Given the description of an element on the screen output the (x, y) to click on. 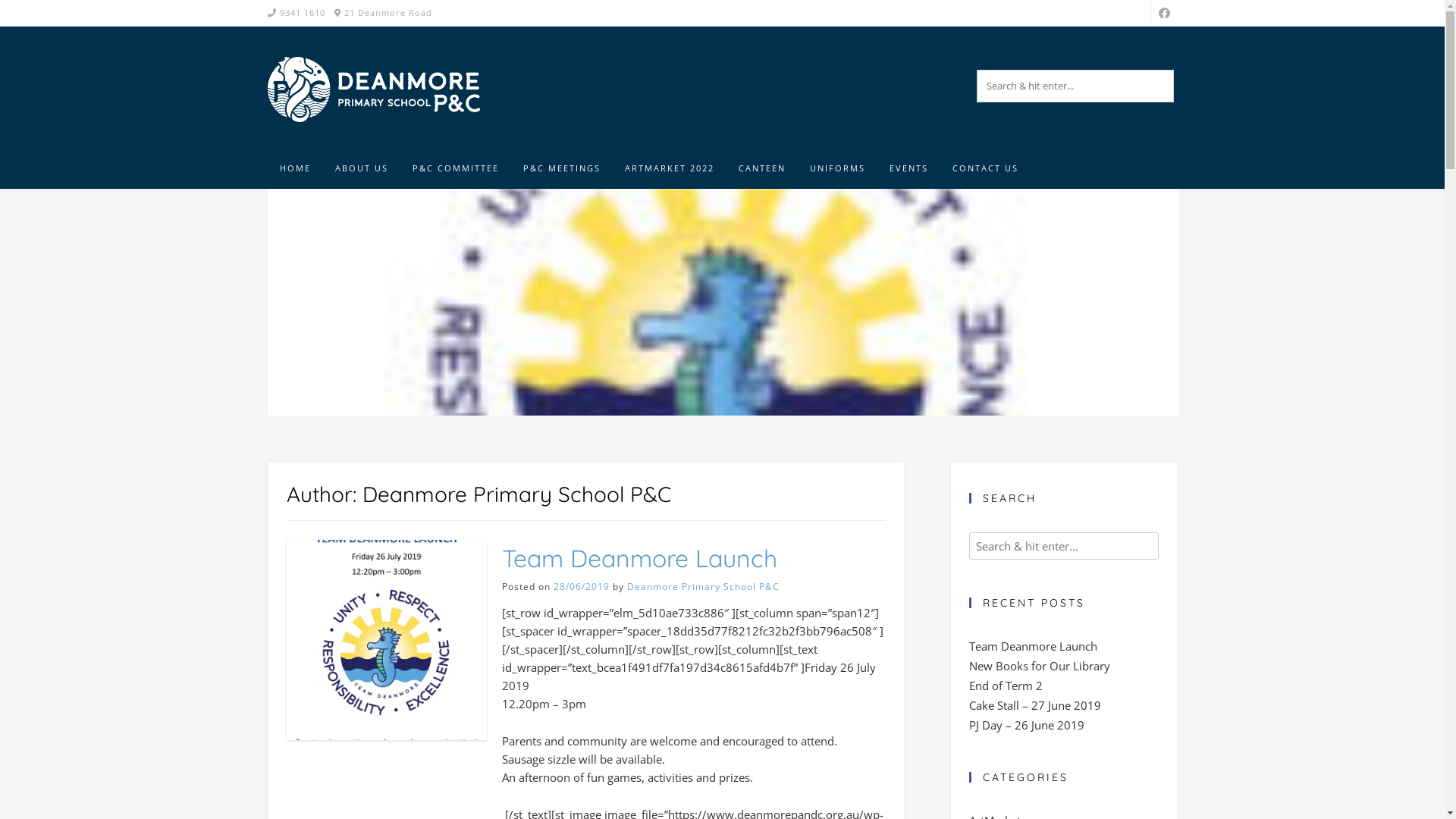
28/06/2019 Element type: text (581, 586)
Deanmore Primary School P&C Element type: text (703, 586)
ABOUT US Element type: text (361, 168)
CONTACT US Element type: text (985, 168)
New Books for Our Library Element type: text (1039, 665)
UNIFORMS Element type: text (837, 168)
ARTMARKET 2022 Element type: text (669, 168)
Find Us on Facebook Element type: hover (1164, 12)
End of Term 2 Element type: text (1005, 685)
HOME Element type: text (294, 168)
EVENTS Element type: text (907, 168)
CANTEEN Element type: text (761, 168)
P&C COMMITTEE Element type: text (455, 168)
P&C MEETINGS Element type: text (561, 168)
Team Deanmore Launch Element type: text (1033, 645)
Team Deanmore Launch Element type: text (639, 557)
